Given the description of an element on the screen output the (x, y) to click on. 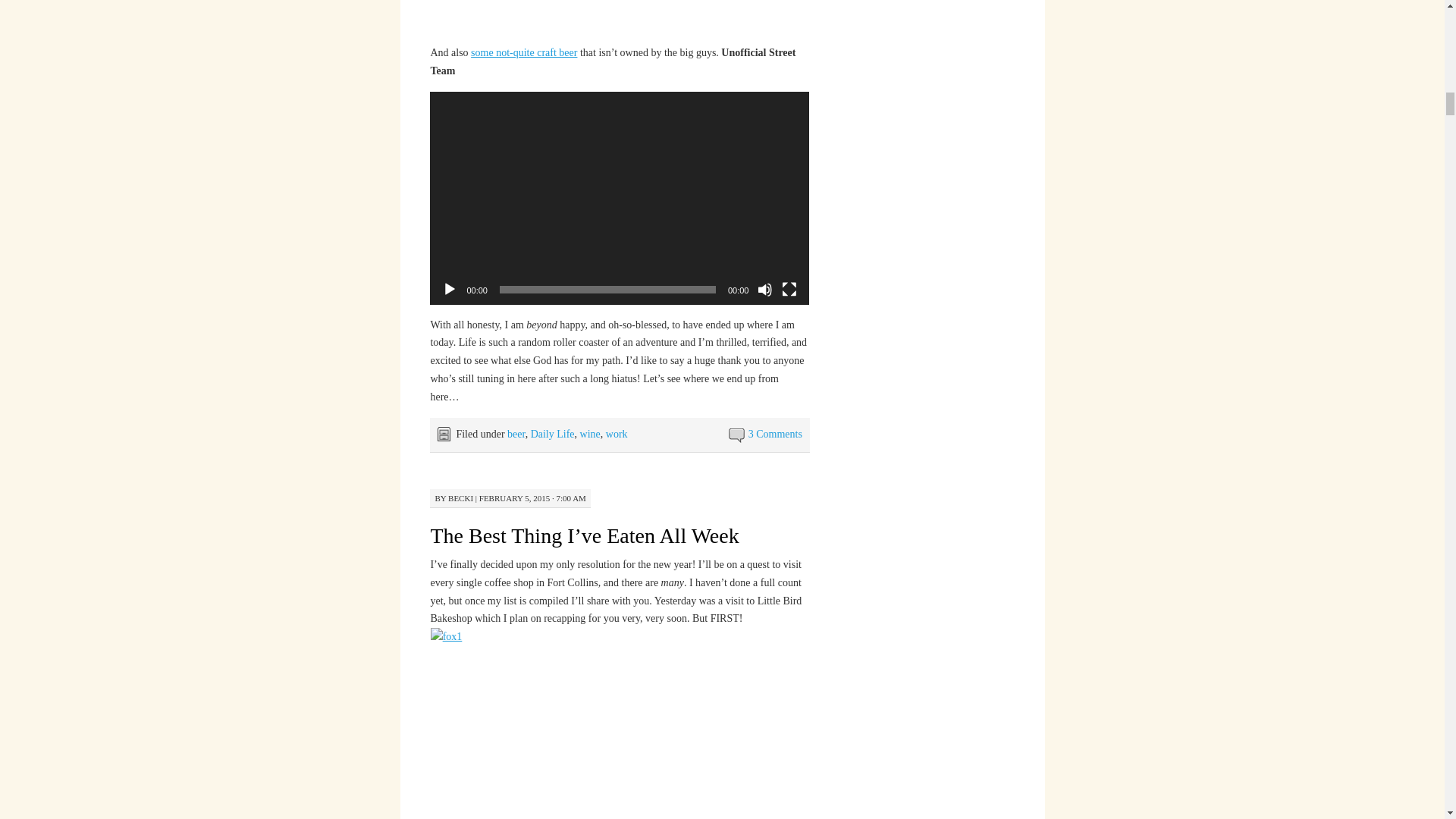
Play (449, 289)
some not-quite craft beer (523, 52)
View all posts by Becki (460, 497)
3 Comments (775, 433)
Mute (765, 289)
Fullscreen (788, 289)
beer (515, 433)
